Given the description of an element on the screen output the (x, y) to click on. 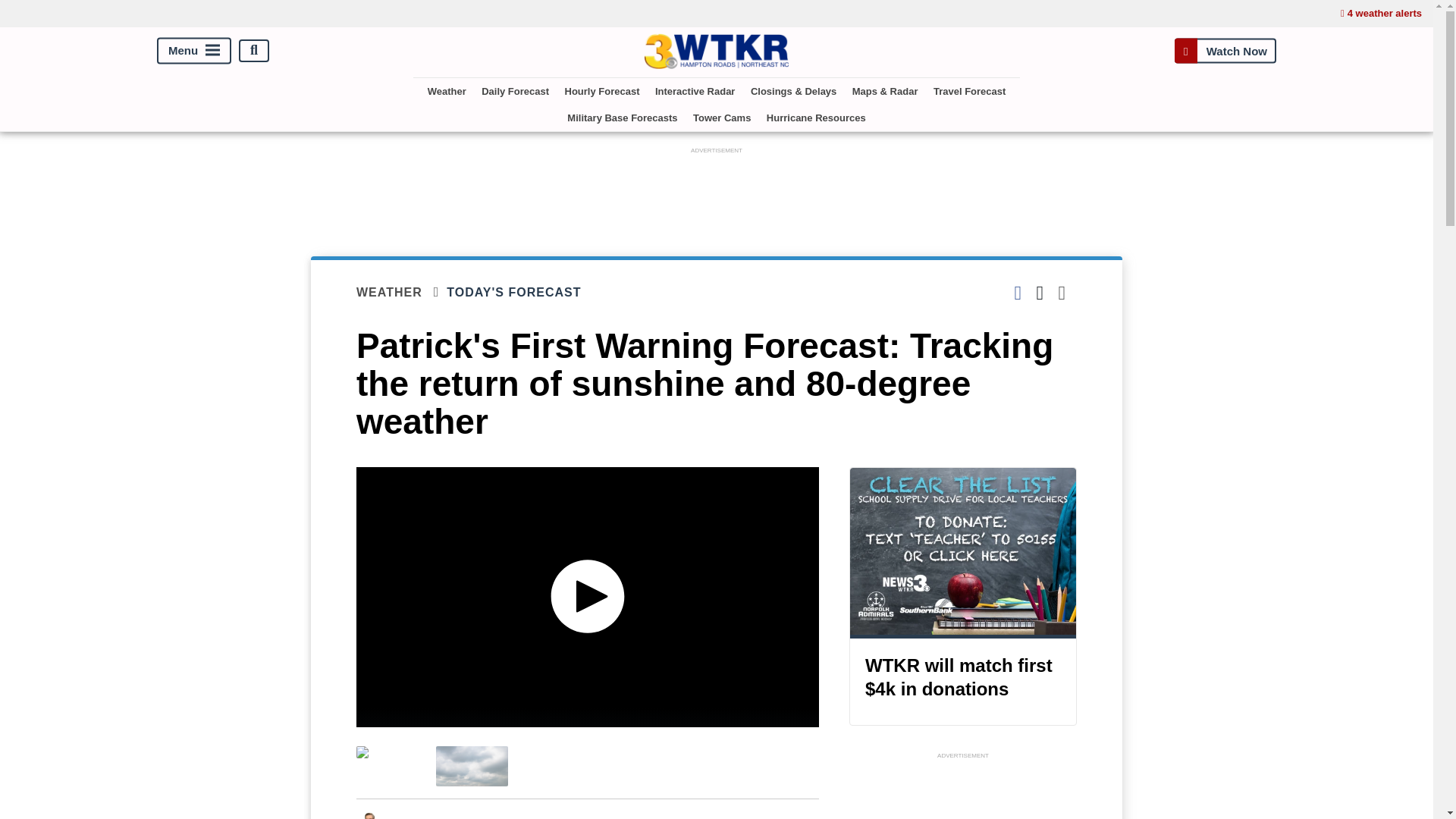
3rd party ad content (716, 192)
3rd party ad content (962, 790)
Menu (194, 49)
Watch Now (1224, 50)
